Given the description of an element on the screen output the (x, y) to click on. 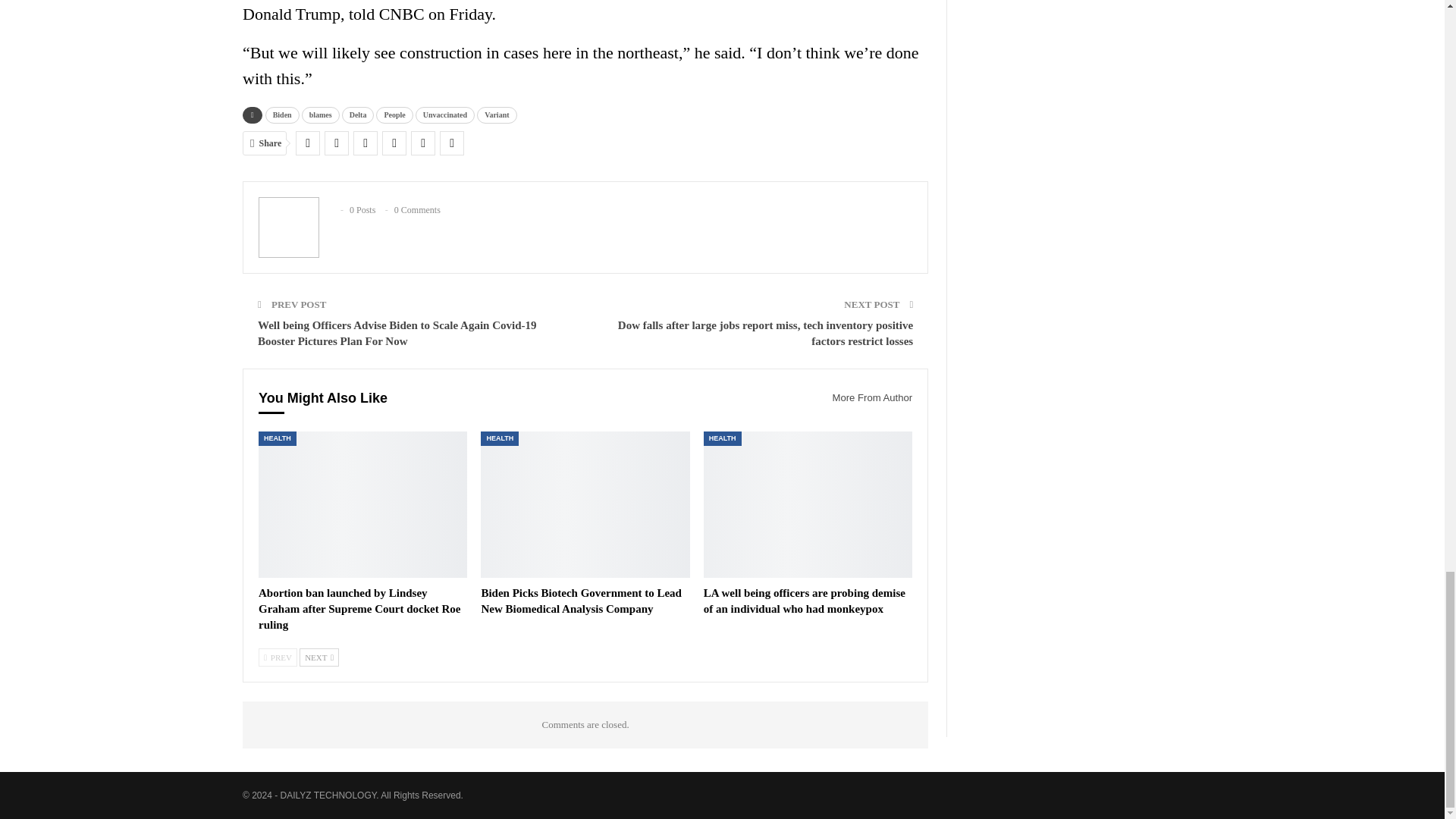
Delta (358, 115)
People (393, 115)
blames (320, 115)
Biden (281, 115)
Unvaccinated (444, 115)
